Given the description of an element on the screen output the (x, y) to click on. 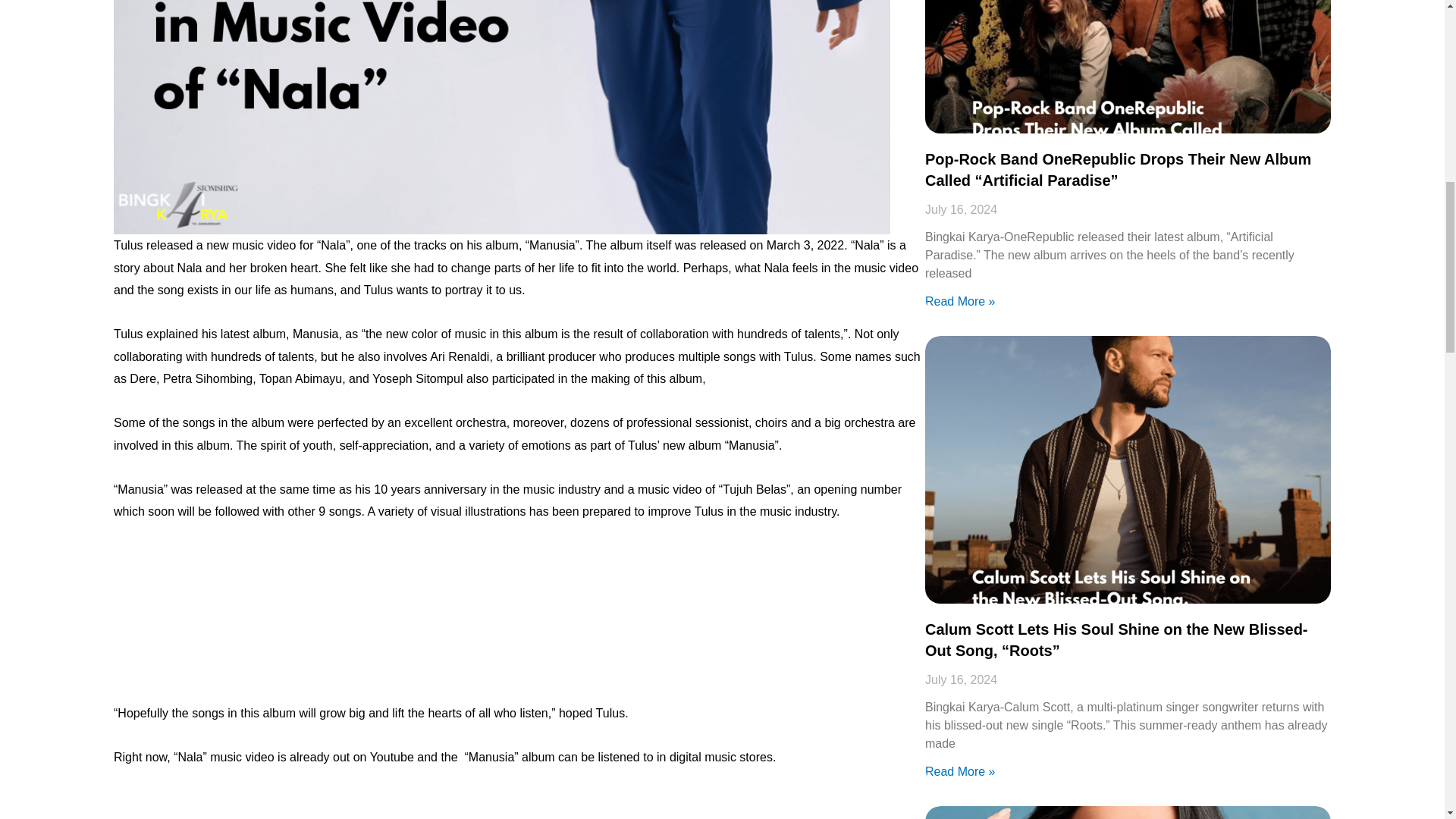
Advertisement (518, 620)
